Given the description of an element on the screen output the (x, y) to click on. 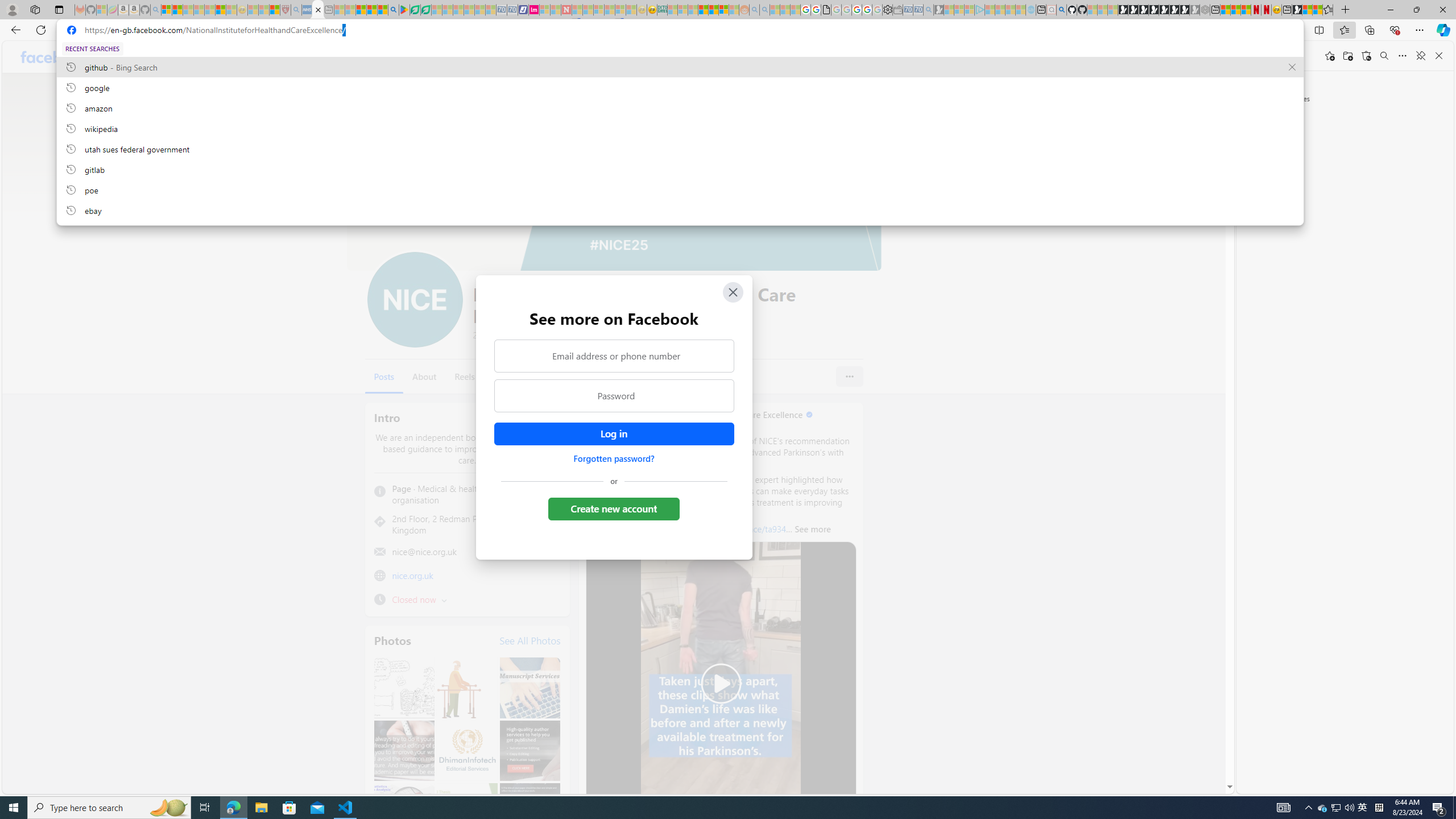
NCL Adult Asthma Inhaler Choice Guideline - Sleeping (307, 9)
google, recent searches from history (679, 86)
Home | Sky Blue Bikes - Sky Blue Bikes - Sleeping (1030, 9)
The Weather Channel - MSN - Sleeping (187, 9)
Bing Real Estate - Home sales and rental listings - Sleeping (928, 9)
github - Search (1061, 9)
Microsoft account | Privacy - Sleeping (969, 9)
Cheap Hotels - Save70.com - Sleeping (512, 9)
MSNBC - MSN - Sleeping (672, 9)
New tab - Sleeping (328, 9)
